Given the description of an element on the screen output the (x, y) to click on. 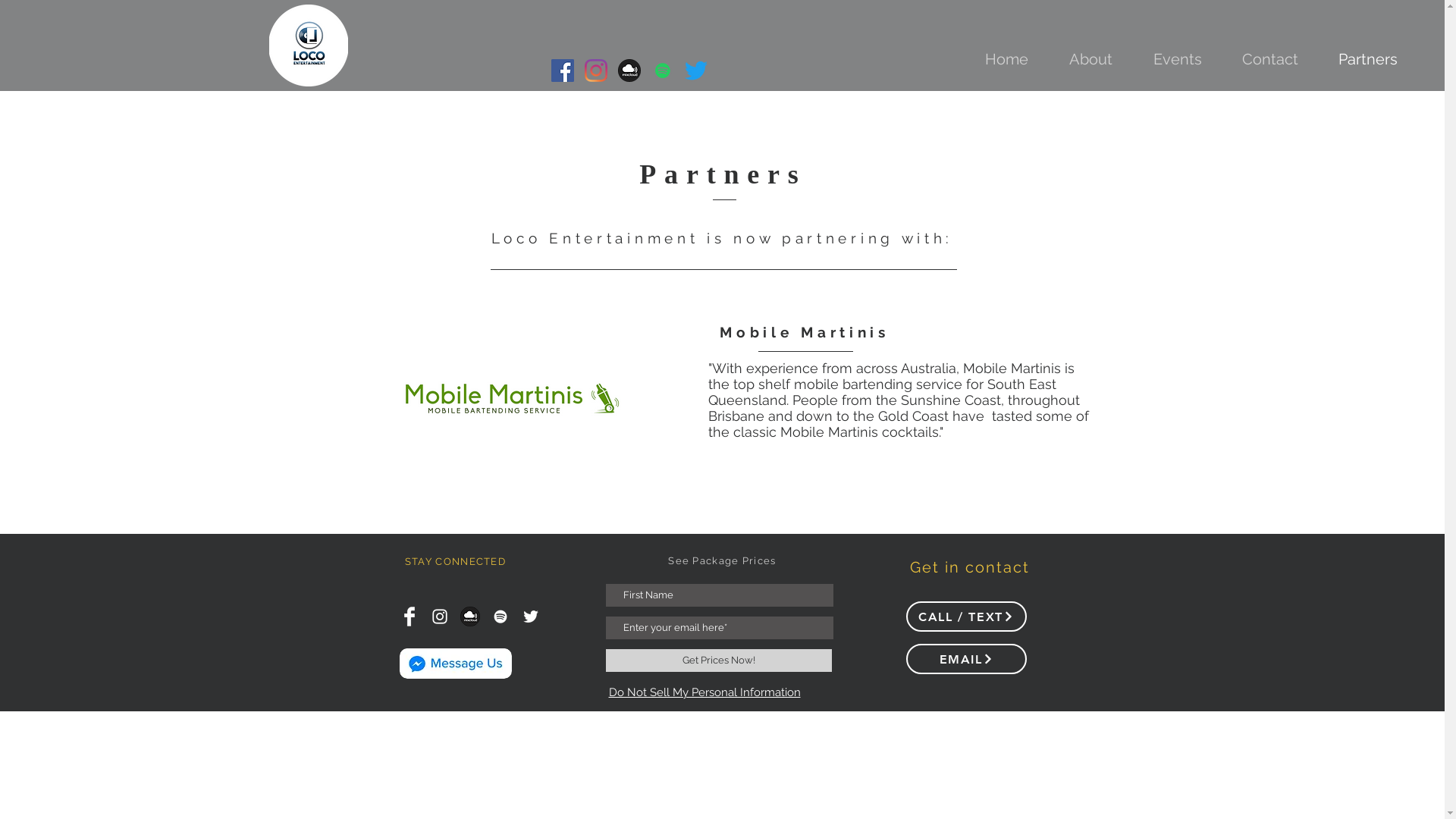
Mobile Martinis Element type: text (804, 331)
Events Element type: text (1176, 58)
About Element type: text (1090, 58)
Get Prices Now! Element type: text (718, 660)
Do Not Sell My Personal Information Element type: text (704, 692)
EMAIL Element type: text (965, 658)
CALL / TEXT Element type: text (965, 616)
Home Element type: text (1006, 58)
Partners Element type: text (1367, 58)
Contact Element type: text (1269, 58)
